Given the description of an element on the screen output the (x, y) to click on. 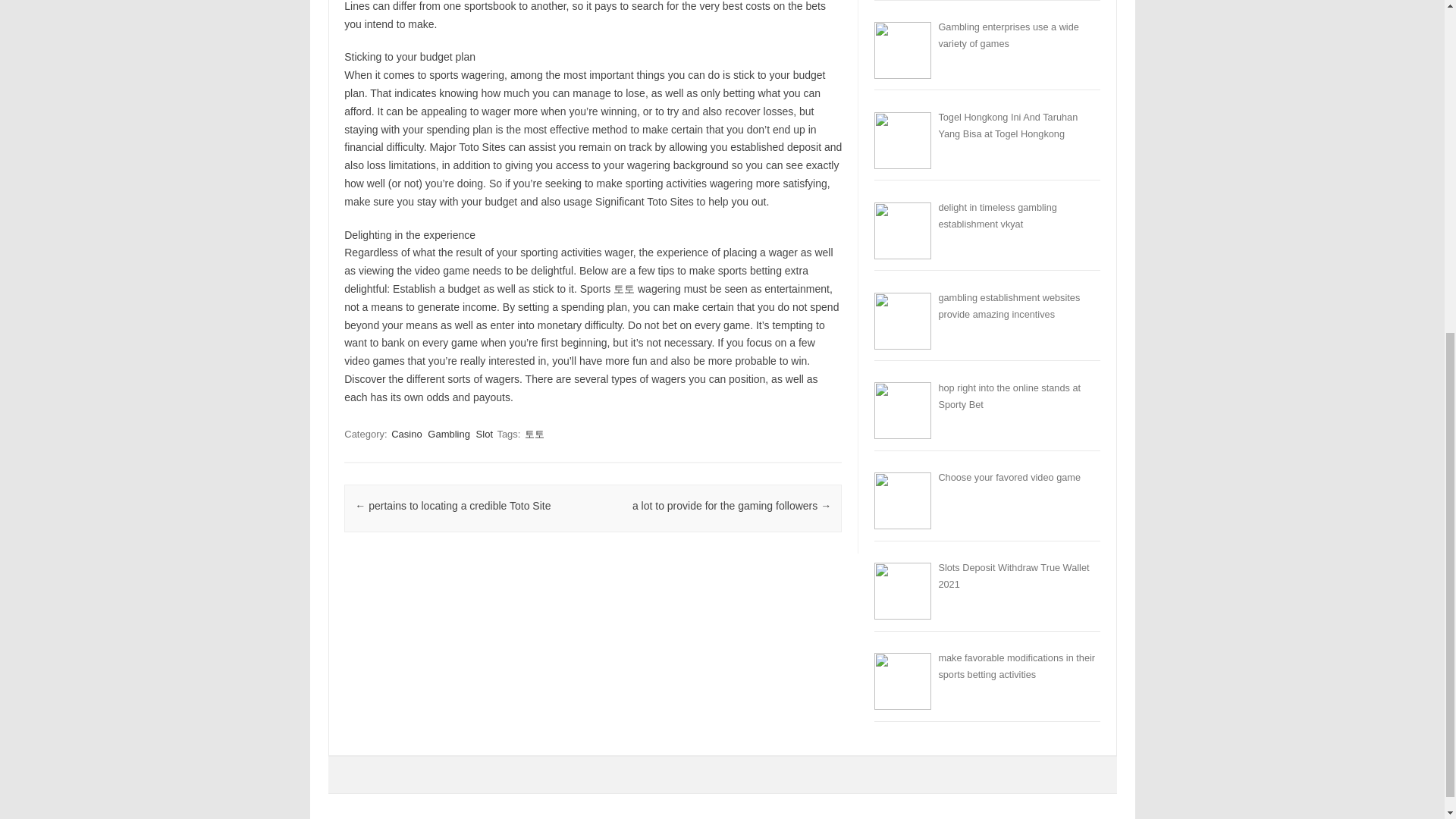
gambling establishment websites provide amazing incentives (1008, 305)
Slots Deposit Withdraw True Wallet 2021 (1013, 575)
Casino (406, 433)
delight in timeless gambling establishment vkyat (997, 215)
Choose your favored video game (1008, 477)
Slot (484, 433)
Gambling (448, 433)
Gambling enterprises use a wide variety of games (1007, 35)
hop right into the online stands at Sporty Bet (1008, 396)
Togel Hongkong Ini And Taruhan Yang Bisa at Togel Hongkong (1007, 125)
